Given the description of an element on the screen output the (x, y) to click on. 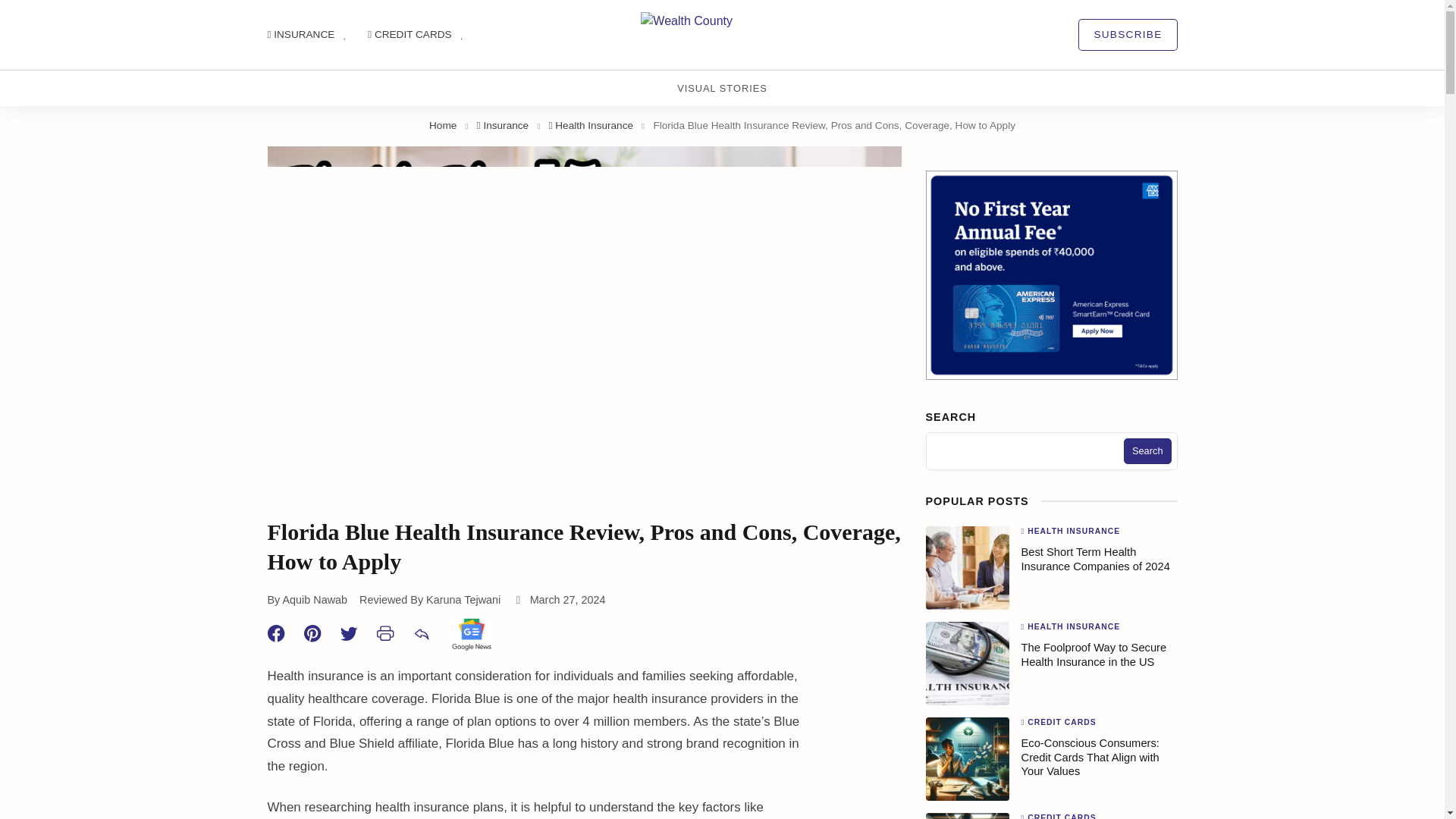
SUBSCRIBE (1127, 34)
Send by Email (430, 632)
Home (443, 125)
Tweet on Twitter (357, 632)
Wealth County - Make better money decisions (721, 34)
Pin on Pinterest (320, 632)
Print (393, 632)
VISUAL STORIES (722, 88)
Aquib Nawab (314, 599)
